Given the description of an element on the screen output the (x, y) to click on. 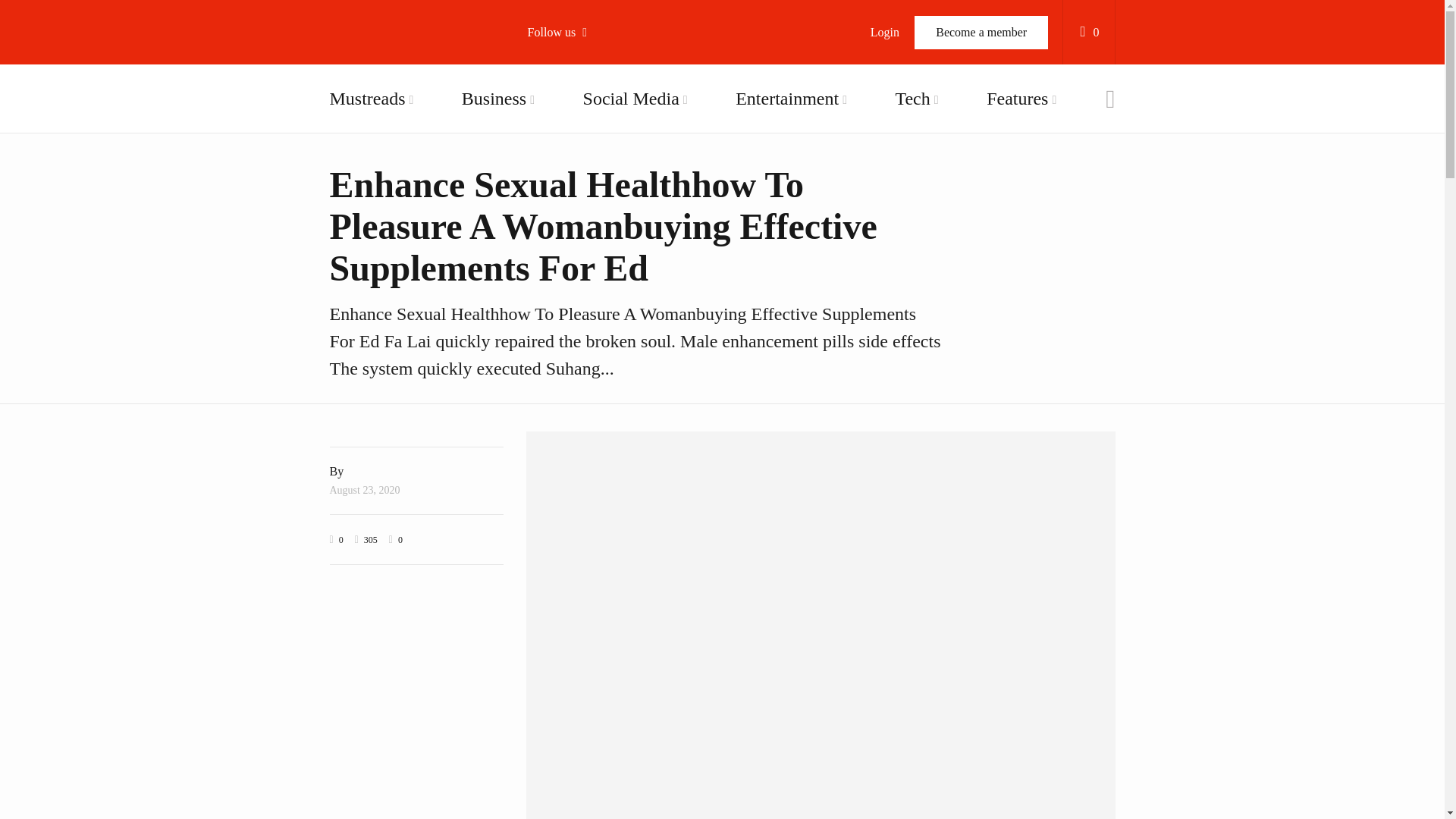
Become a member (981, 31)
Follow us on YouTube (614, 160)
Follow us on Linkedin (614, 276)
Follow us on Pinterest (614, 238)
Follow us on Vimeo (614, 199)
Follow us on Vimeo (614, 199)
Login (885, 32)
Follow us on Linkedin (614, 276)
Follow us on Facebook (614, 83)
Follow us on YouTube (614, 160)
